Given the description of an element on the screen output the (x, y) to click on. 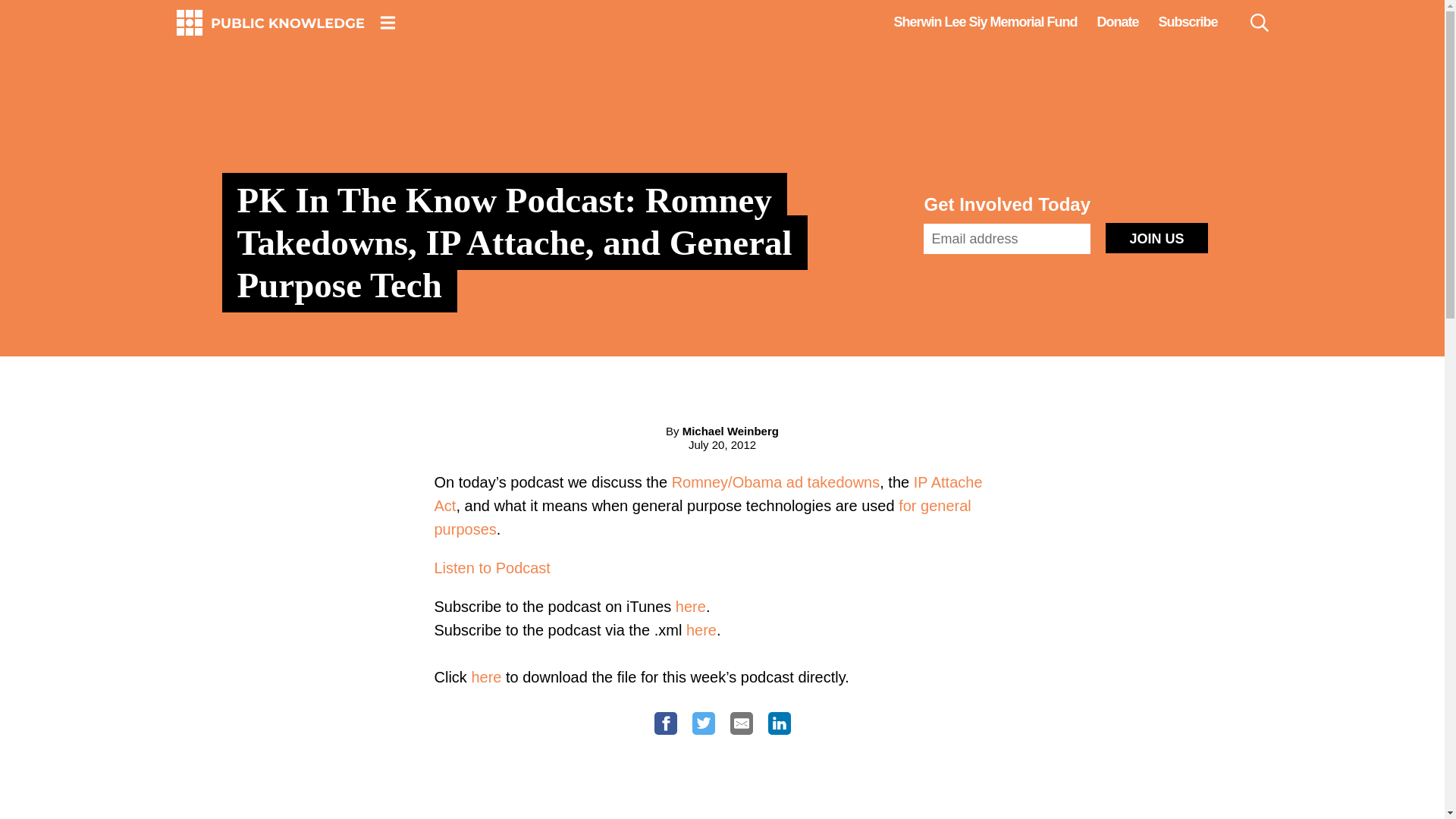
Sherwin Lee Siy Memorial Fund (984, 22)
Join Us (1156, 237)
here (690, 606)
here (485, 677)
Listen to Podcast (491, 567)
here (700, 629)
Subscribe (1187, 22)
Subscribe (1187, 22)
Public Knowledge (270, 22)
Donate (1117, 22)
